Given the description of an element on the screen output the (x, y) to click on. 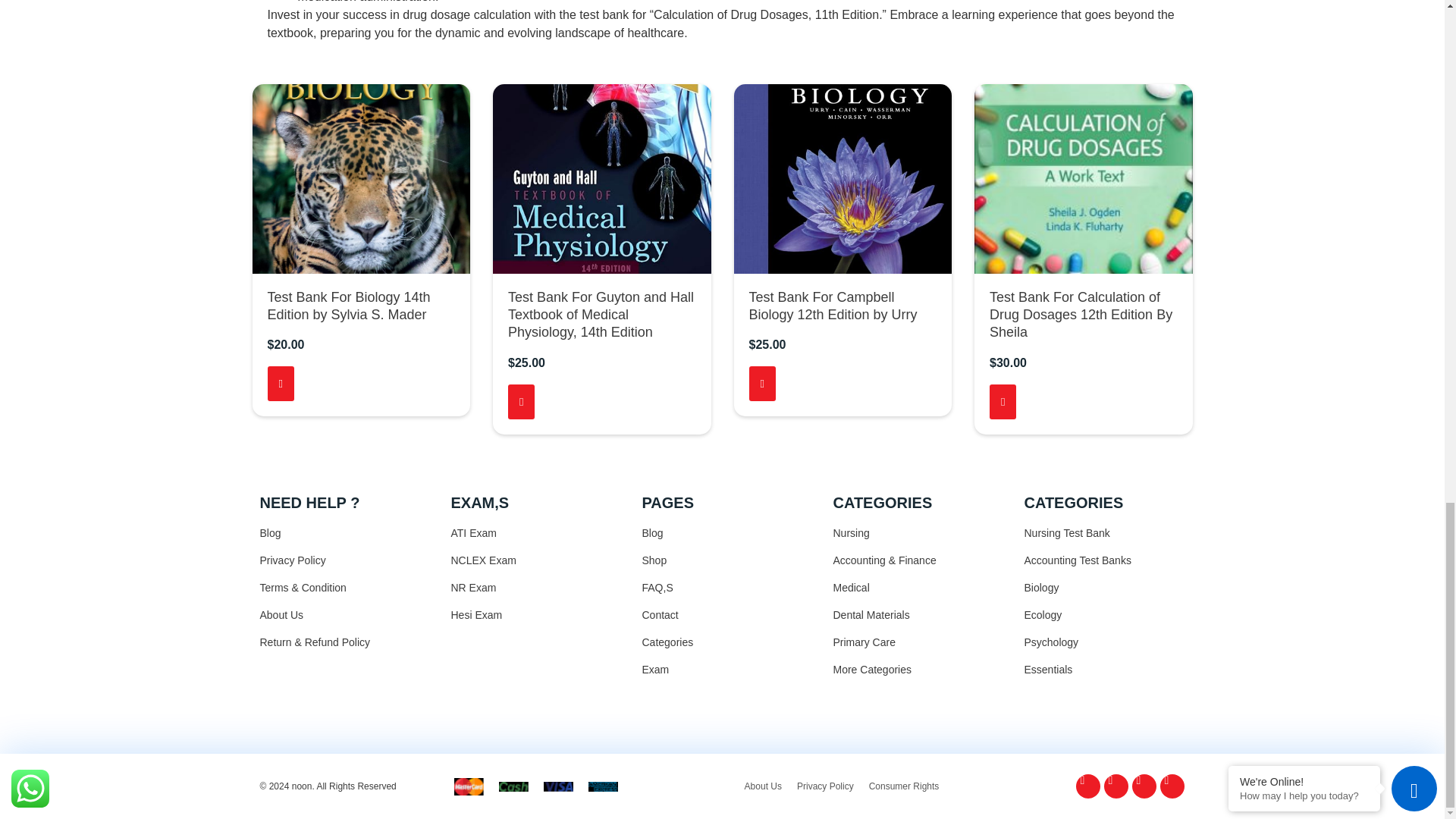
Test Bank For Biology 14th Edition by Sylvia S. Mader (347, 305)
About Us (339, 615)
Blog (339, 533)
Test Bank For Campbell Biology 12th Edition by Urry (833, 305)
Privacy Policy (339, 560)
